Given the description of an element on the screen output the (x, y) to click on. 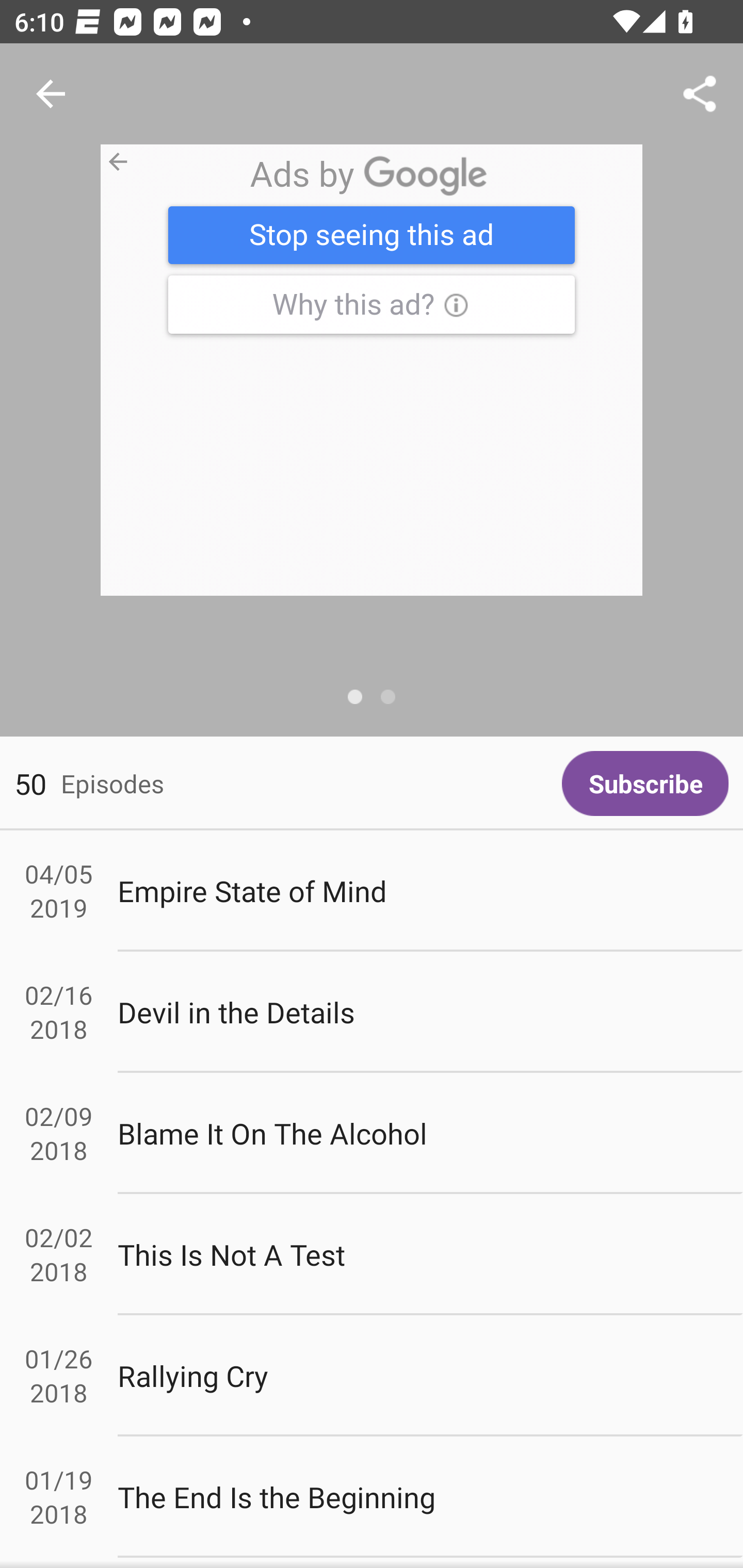
Navigate up (50, 93)
Share... (699, 93)
Subscribe (644, 783)
04/05 2019 Empire State of Mind (371, 891)
02/16 2018 Devil in the Details (371, 1011)
02/09 2018 Blame It On The Alcohol (371, 1133)
02/02 2018 This Is Not A Test (371, 1254)
01/26 2018 Rallying Cry (371, 1375)
01/19 2018 The End Is the Beginning (371, 1496)
